Given the description of an element on the screen output the (x, y) to click on. 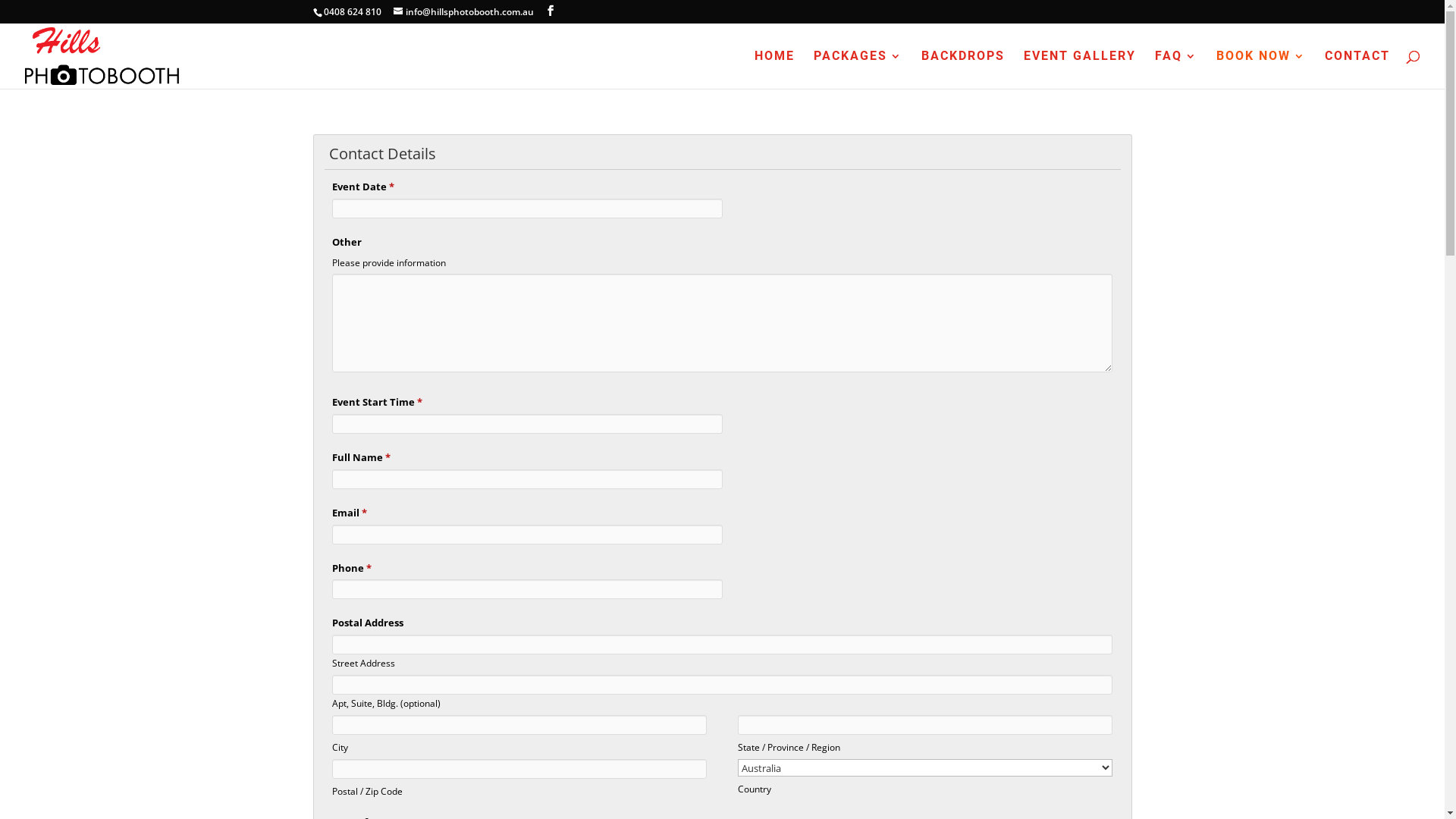
info@hillsphotobooth.com.au Element type: text (462, 11)
PACKAGES Element type: text (857, 69)
HOME Element type: text (774, 69)
BACKDROPS Element type: text (962, 69)
CONTACT Element type: text (1357, 69)
EVENT GALLERY Element type: text (1079, 69)
BOOK NOW Element type: text (1260, 69)
FAQ Element type: text (1175, 69)
